Given the description of an element on the screen output the (x, y) to click on. 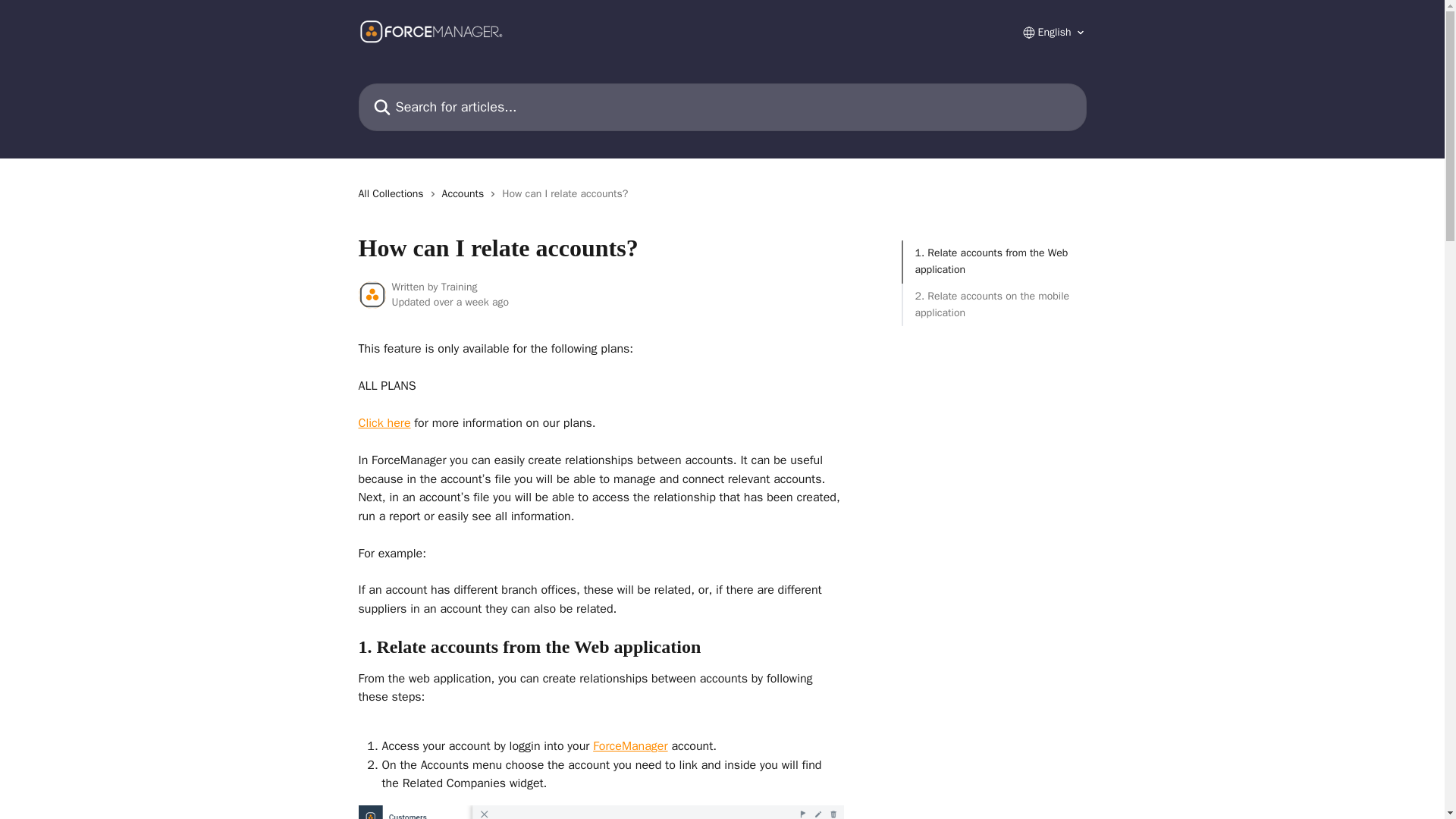
All Collections (393, 193)
2. Relate accounts on the mobile application (994, 305)
1. Relate accounts from the Web application (994, 261)
Click here (384, 422)
ForceManager (629, 745)
Accounts (466, 193)
